Given the description of an element on the screen output the (x, y) to click on. 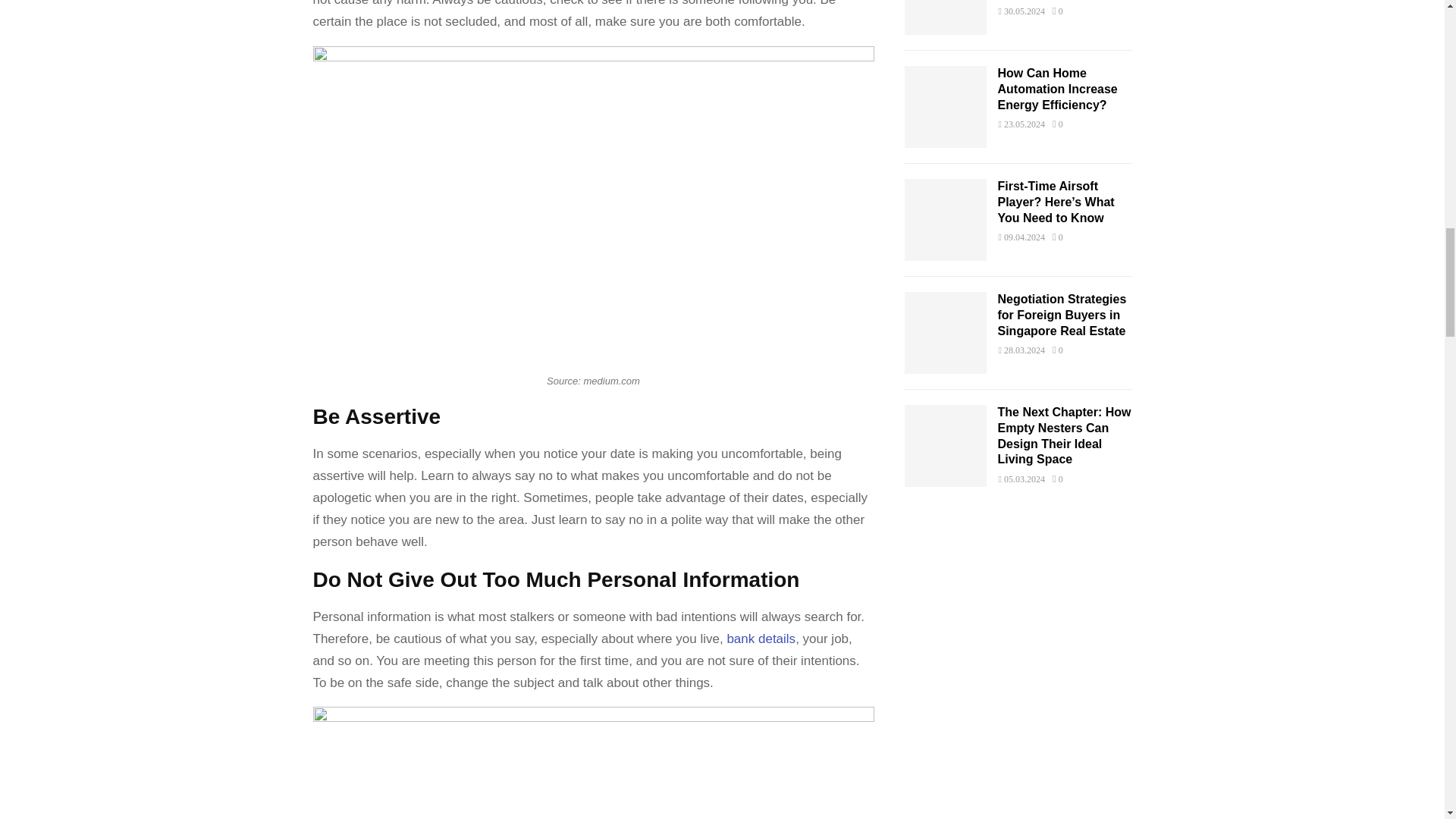
 How Can Home Automation Increase Energy Efficiency?  (1057, 88)
bank details (760, 638)
The Ultimate Guide to Different Types of Hair Extensions (944, 17)
How Can Home Automation Increase Energy Efficiency? (944, 107)
